Given the description of an element on the screen output the (x, y) to click on. 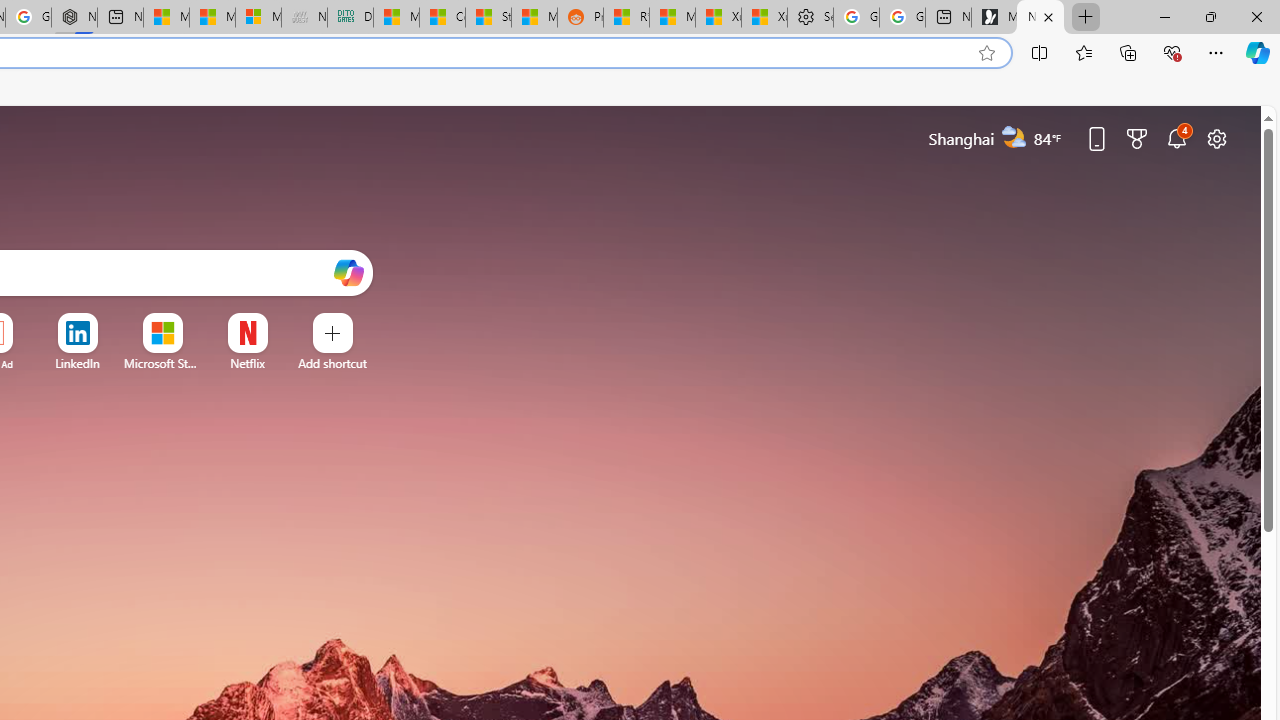
Partly cloudy (1014, 137)
R******* | Trusted Community Engagement and Contributions (626, 17)
Page settings (1216, 138)
Add a site (332, 363)
